Given the description of an element on the screen output the (x, y) to click on. 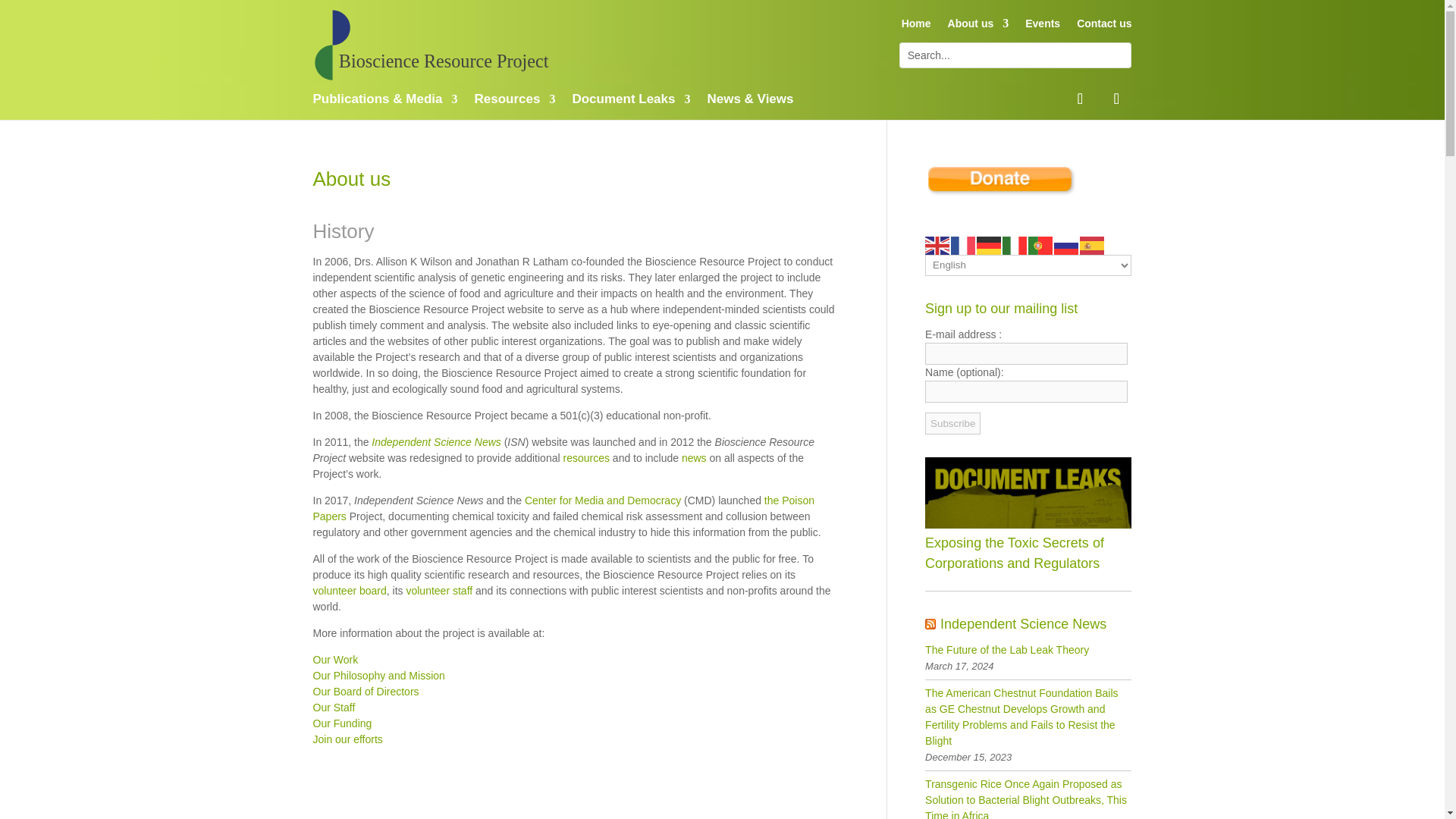
Home (916, 26)
Link to Join Our Efforts (347, 739)
our board (349, 590)
Link to Our Work page (335, 659)
Contact us (1104, 26)
Follow on X (1115, 98)
Link to Our Staff page (334, 707)
our staff (438, 590)
About us (978, 26)
Link to Our Board of Directors page (366, 691)
Project News and Views (693, 458)
Resources (585, 458)
Search (22, 12)
Subscribe (951, 423)
Link to Our Philosophy and Mission page (378, 675)
